Given the description of an element on the screen output the (x, y) to click on. 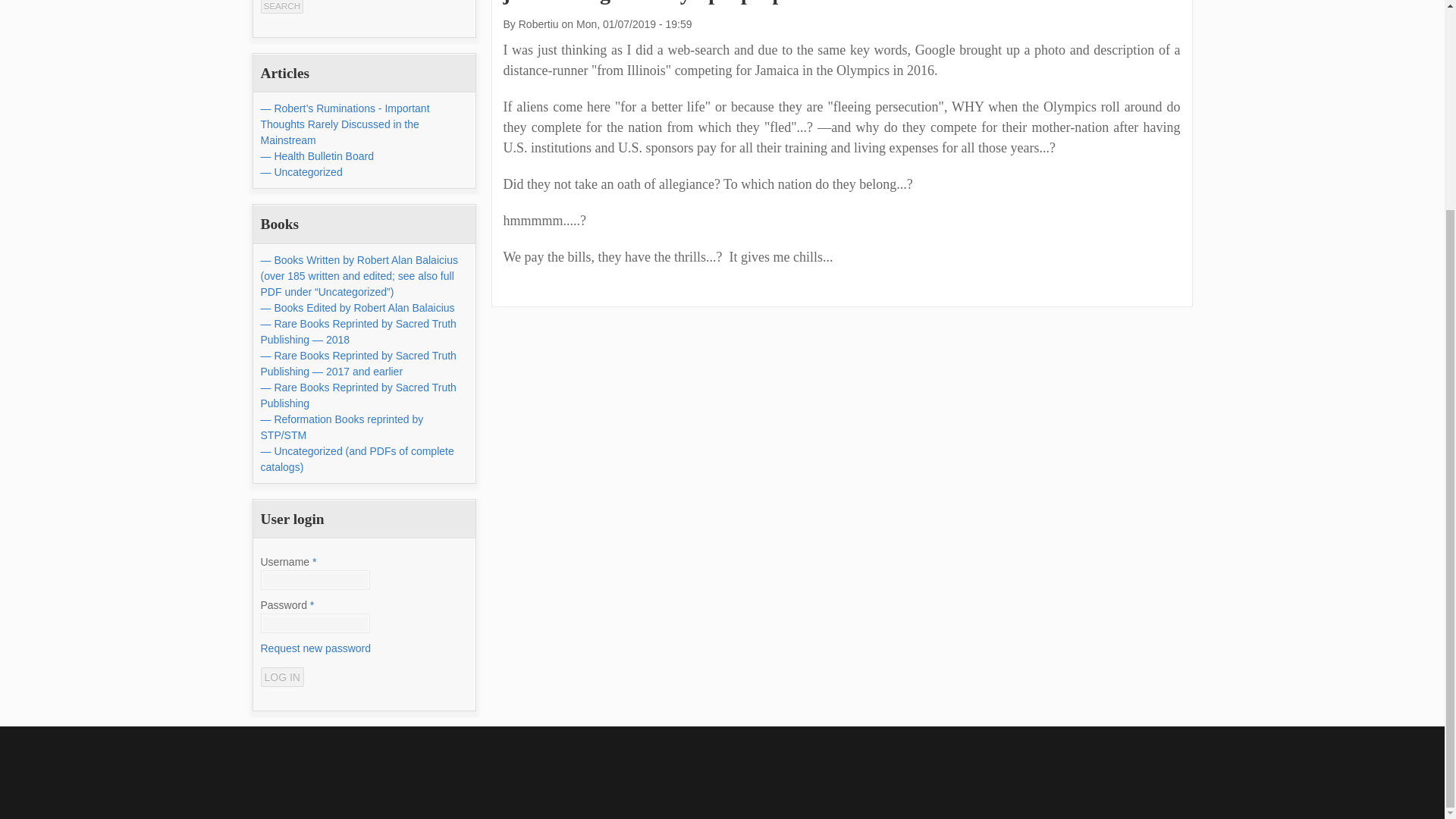
Search (282, 6)
Log in (282, 677)
Search (282, 6)
Log in (282, 677)
Request new password via e-mail. (315, 648)
Request new password (315, 648)
